Given the description of an element on the screen output the (x, y) to click on. 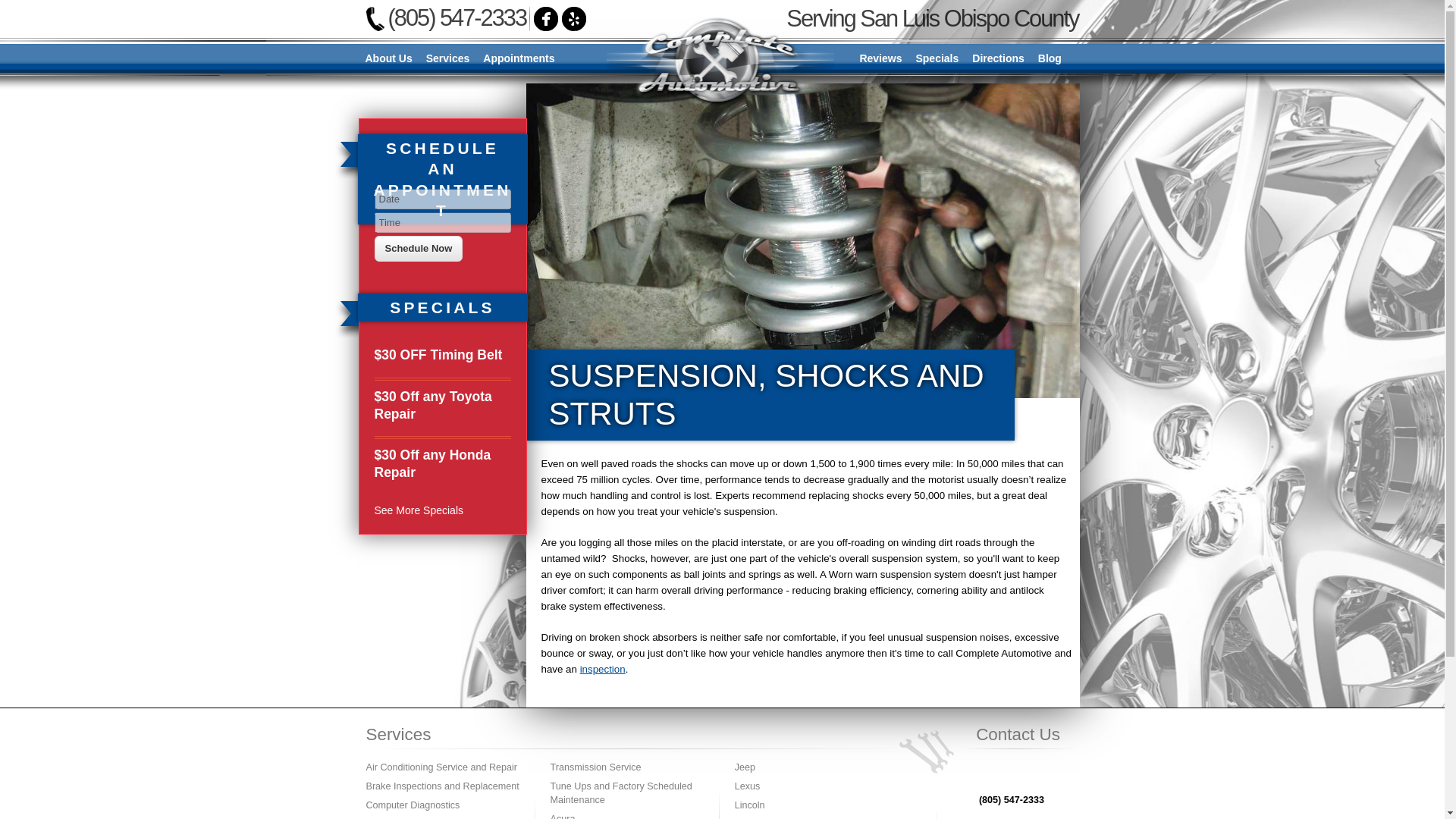
Directions (997, 58)
Date (442, 199)
Services (448, 58)
Blog (1049, 58)
SPECIALS (442, 307)
Air Conditioning Service and Repair (440, 766)
SCHEDULE AN APPOINTMENT (442, 179)
Schedule Now (418, 248)
Computer Diagnostics (412, 805)
Appointments (518, 58)
Home (720, 61)
inspection (602, 668)
